Given the description of an element on the screen output the (x, y) to click on. 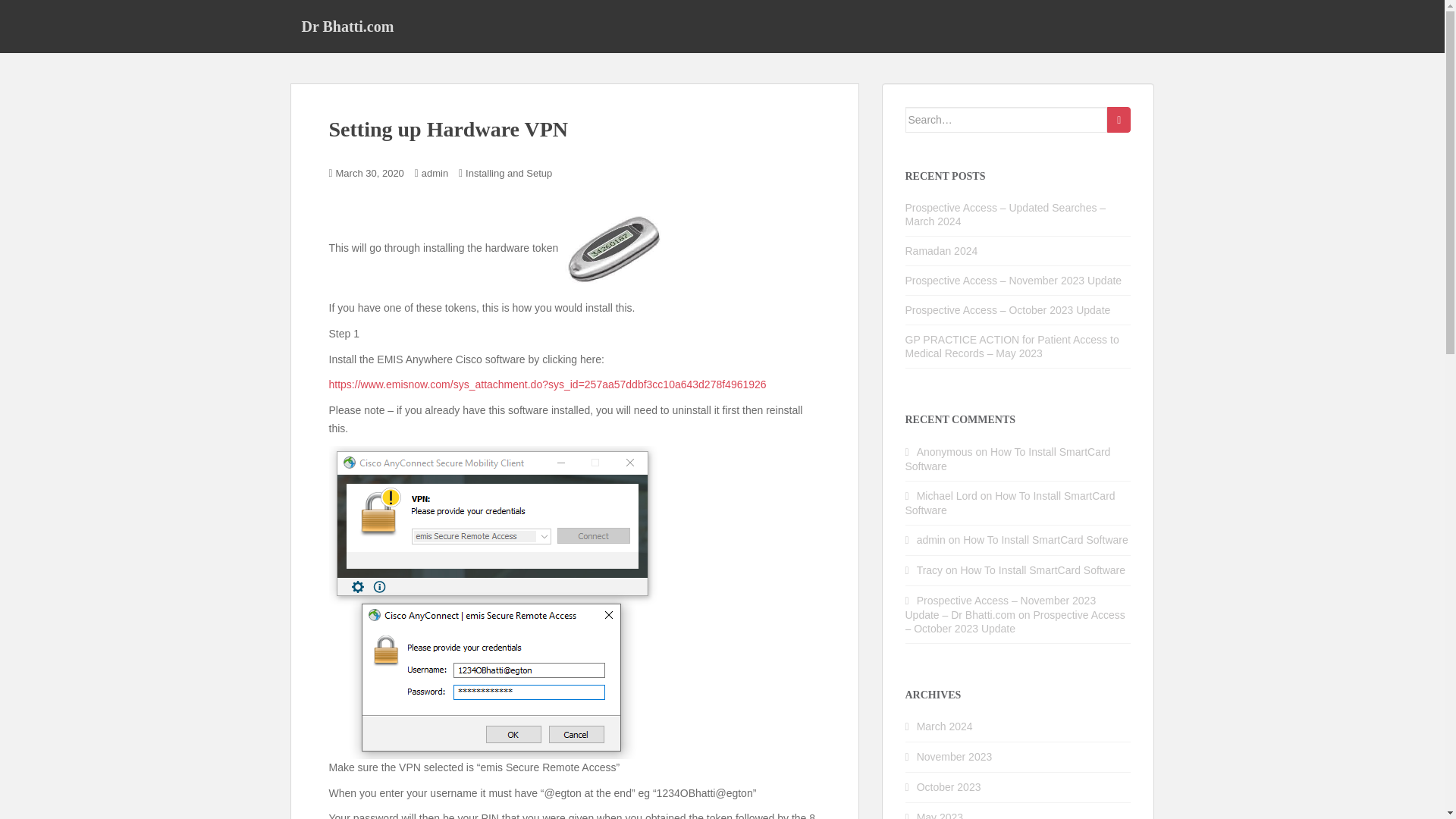
admin (435, 173)
March 2024 (944, 726)
Dr Bhatti.com (346, 26)
How To Install SmartCard Software (1042, 570)
How To Install SmartCard Software (1007, 458)
Dr Bhatti.com (346, 26)
Installing and Setup (508, 173)
How To Install SmartCard Software (1010, 502)
Search (1118, 119)
Search for: (1006, 119)
Ramadan 2024 (941, 250)
May 2023 (939, 815)
October 2023 (949, 787)
November 2023 (954, 756)
How To Install SmartCard Software (1045, 539)
